Given the description of an element on the screen output the (x, y) to click on. 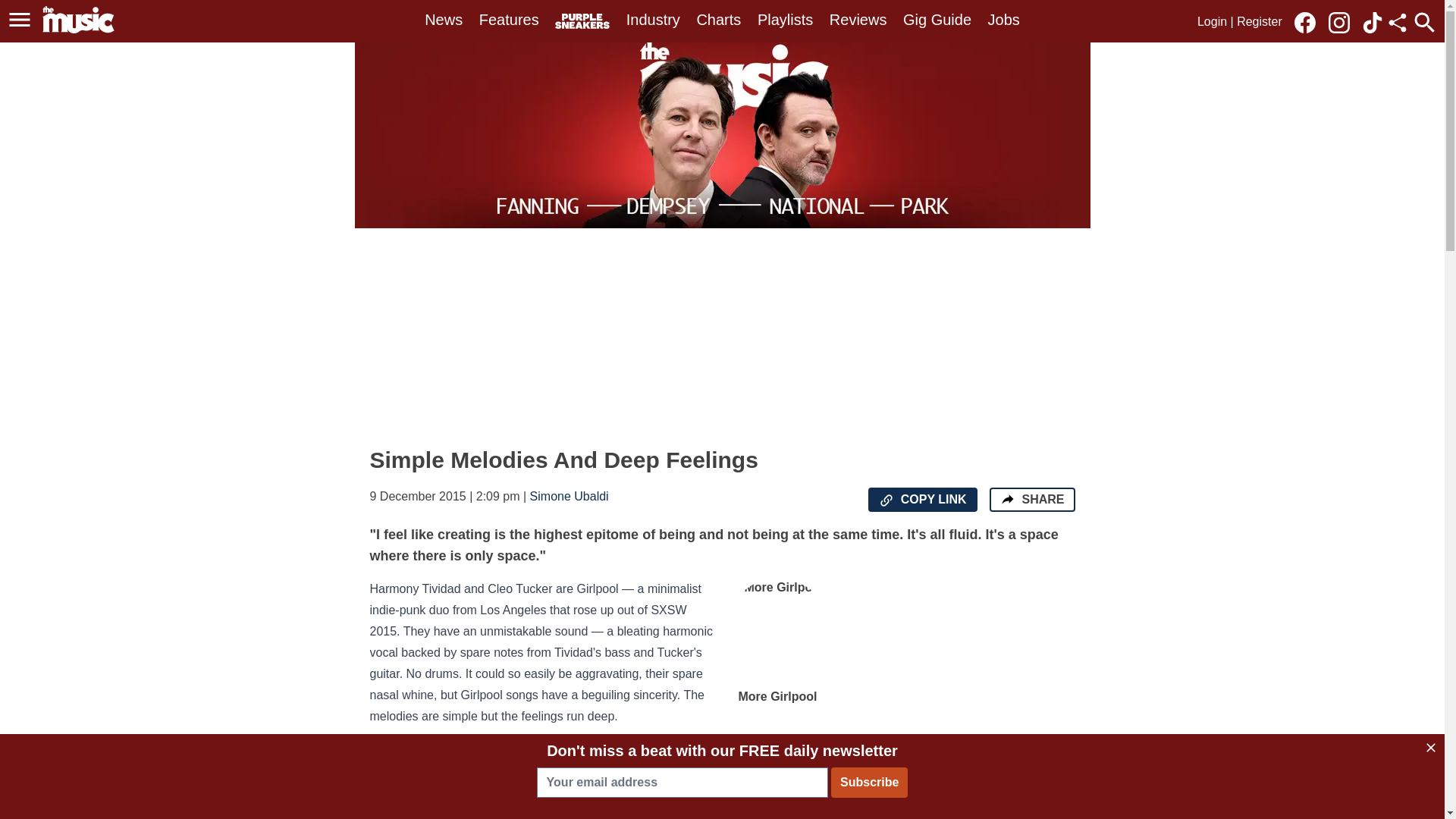
Jobs (1004, 19)
Industry (652, 19)
Copy the page URL (886, 500)
Features (508, 19)
Link to our Instagram (1342, 21)
Charts (718, 19)
Share this page (1397, 22)
Open the site search menu (1424, 22)
Share the page (1007, 498)
Link to our TikTok (1372, 22)
